Given the description of an element on the screen output the (x, y) to click on. 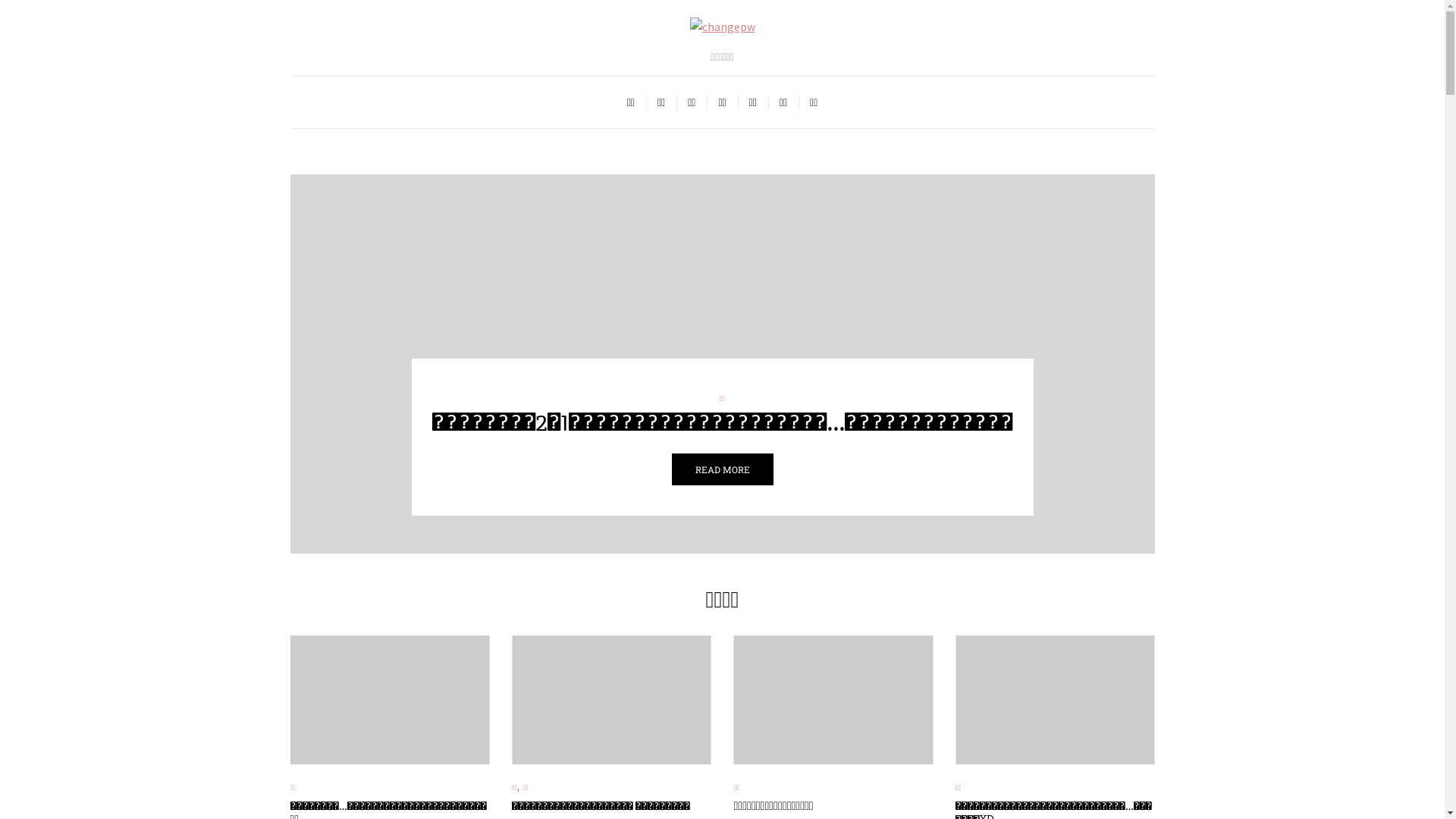
READ MORE Element type: text (893, 469)
